Given the description of an element on the screen output the (x, y) to click on. 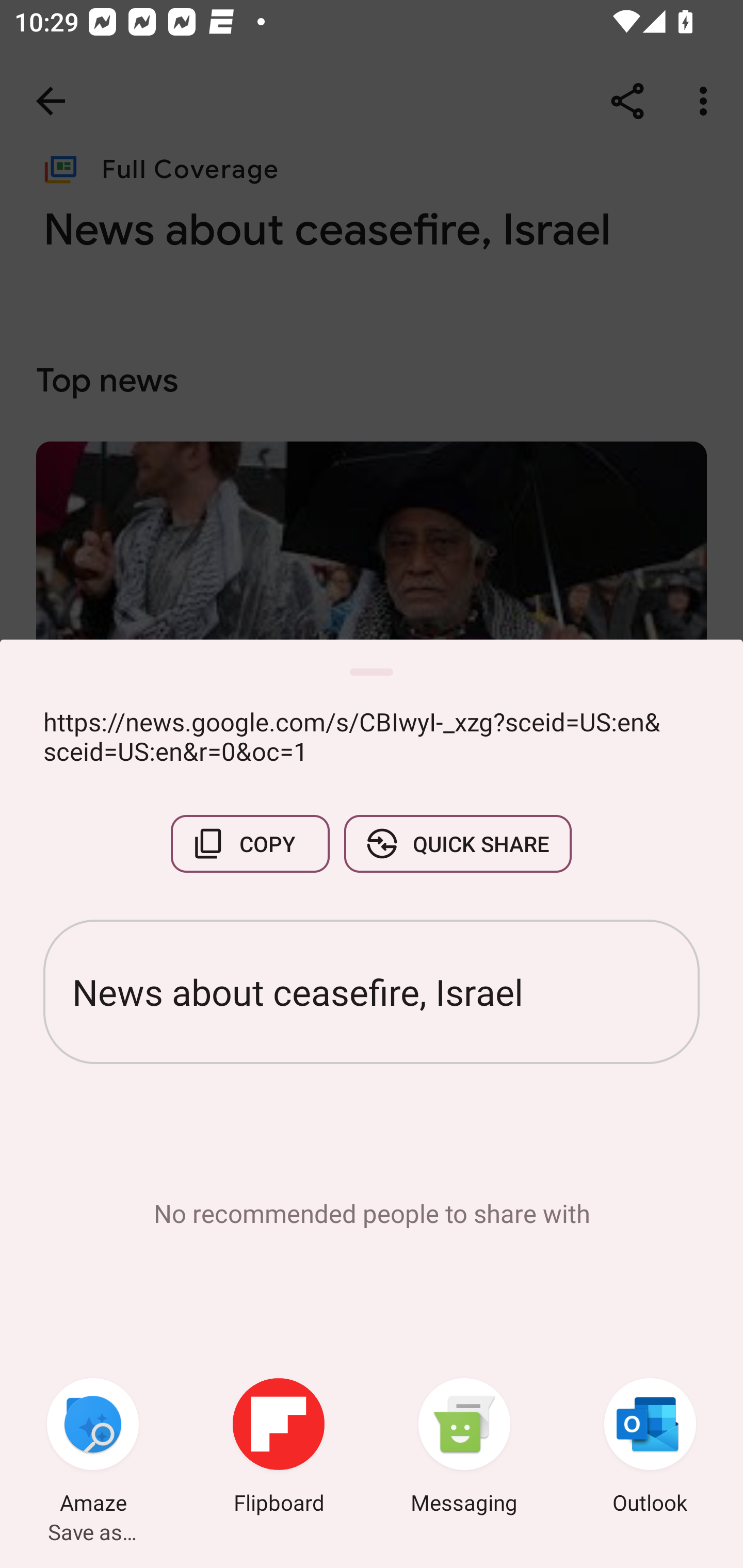
COPY (249, 844)
QUICK SHARE (457, 844)
Amaze Save as… (92, 1448)
Flipboard (278, 1448)
Messaging (464, 1448)
Outlook (650, 1448)
